Given the description of an element on the screen output the (x, y) to click on. 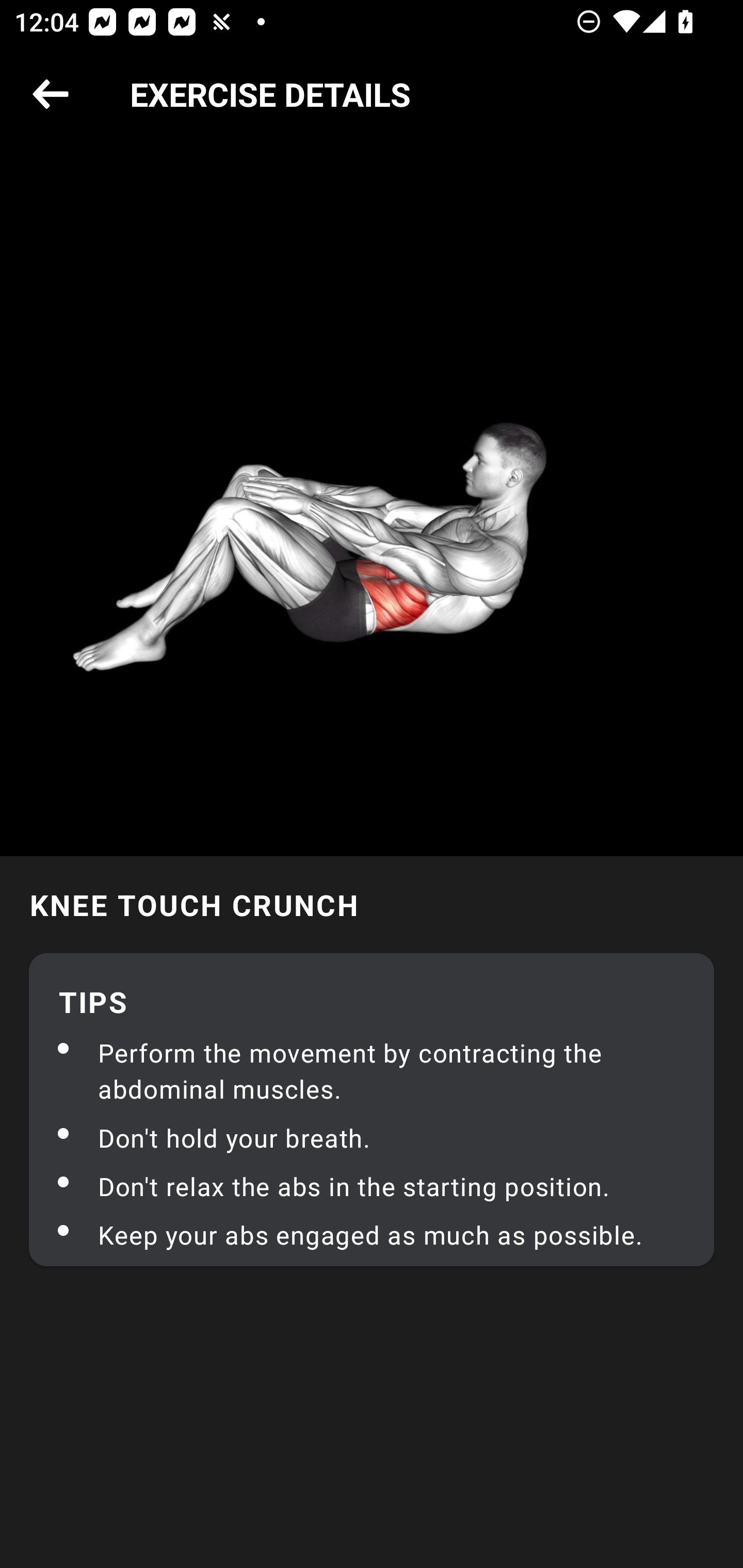
Back Icon (50, 94)
